Given the description of an element on the screen output the (x, y) to click on. 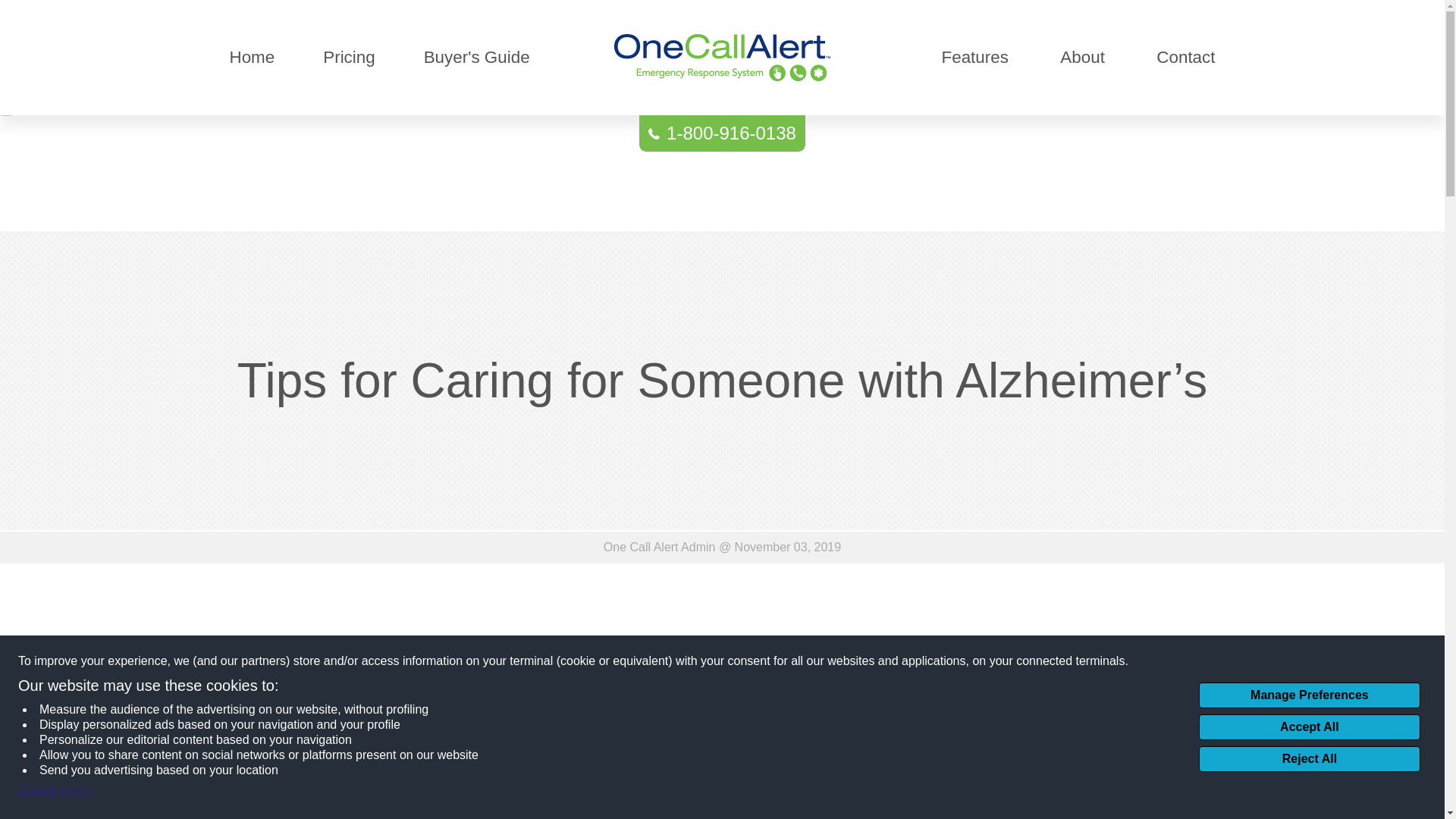
Cookie Policy (54, 789)
Buyer's Guide (476, 57)
Accept All (1309, 727)
Features (974, 57)
1-800-916-0138 (722, 133)
Reject All (1309, 759)
Manage Preferences (1309, 695)
Contact (1185, 57)
